Given the description of an element on the screen output the (x, y) to click on. 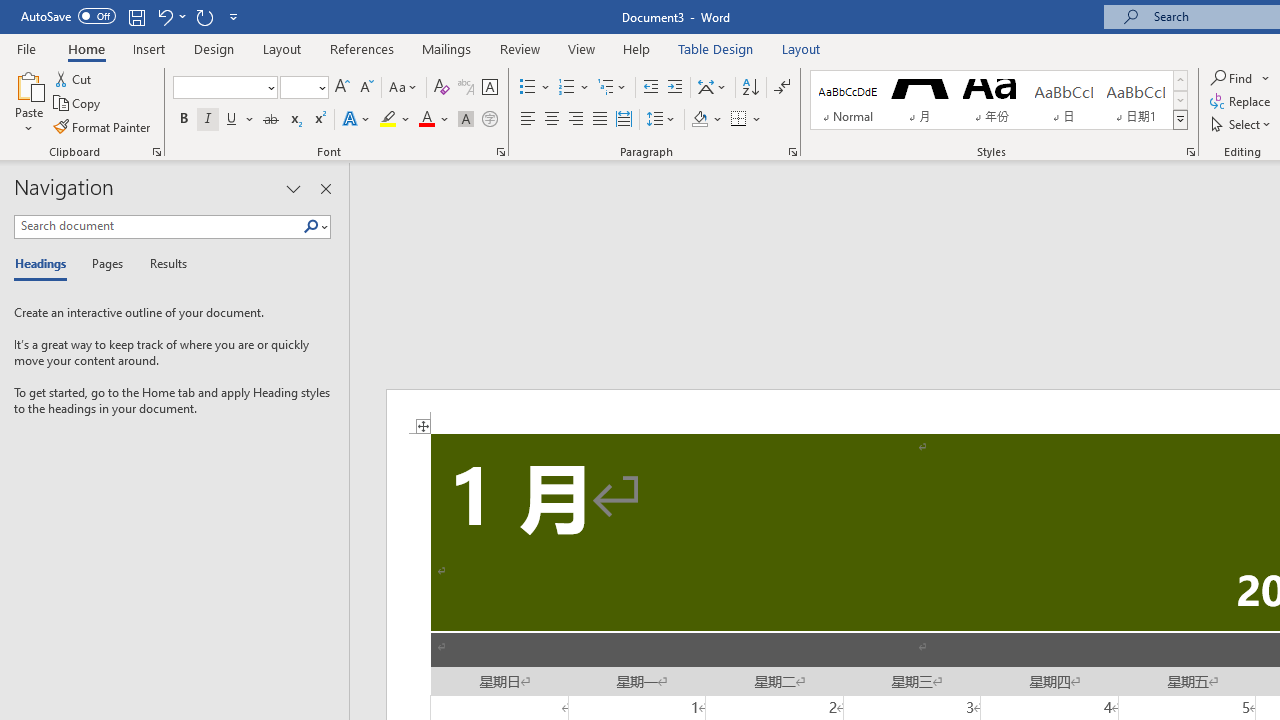
Headings (45, 264)
Italic (207, 119)
Table Design (715, 48)
Office Clipboard... (156, 151)
Enclose Characters... (489, 119)
Row Down (1179, 100)
Text Highlight Color (395, 119)
